Given the description of an element on the screen output the (x, y) to click on. 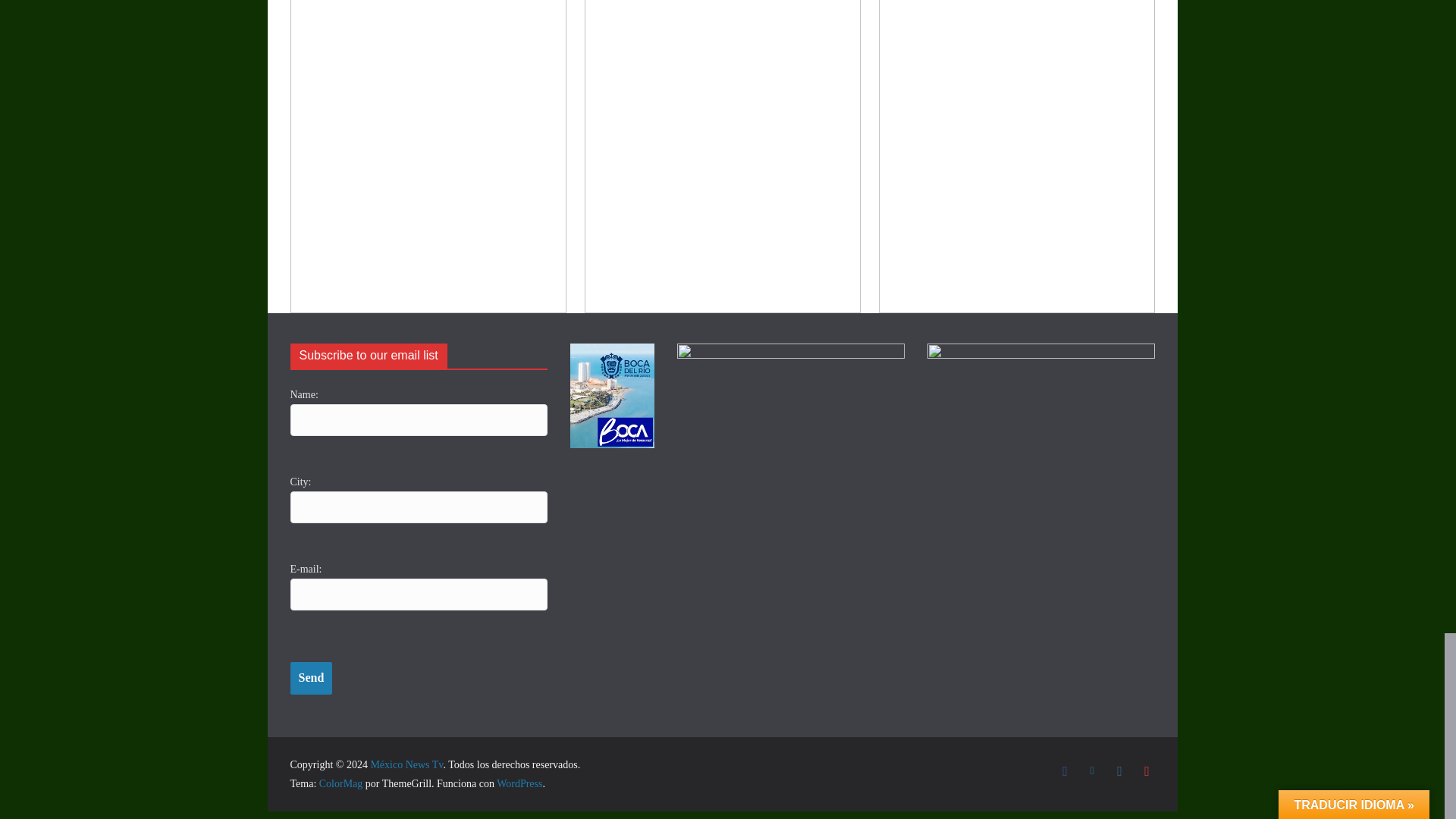
Send (310, 677)
